Given the description of an element on the screen output the (x, y) to click on. 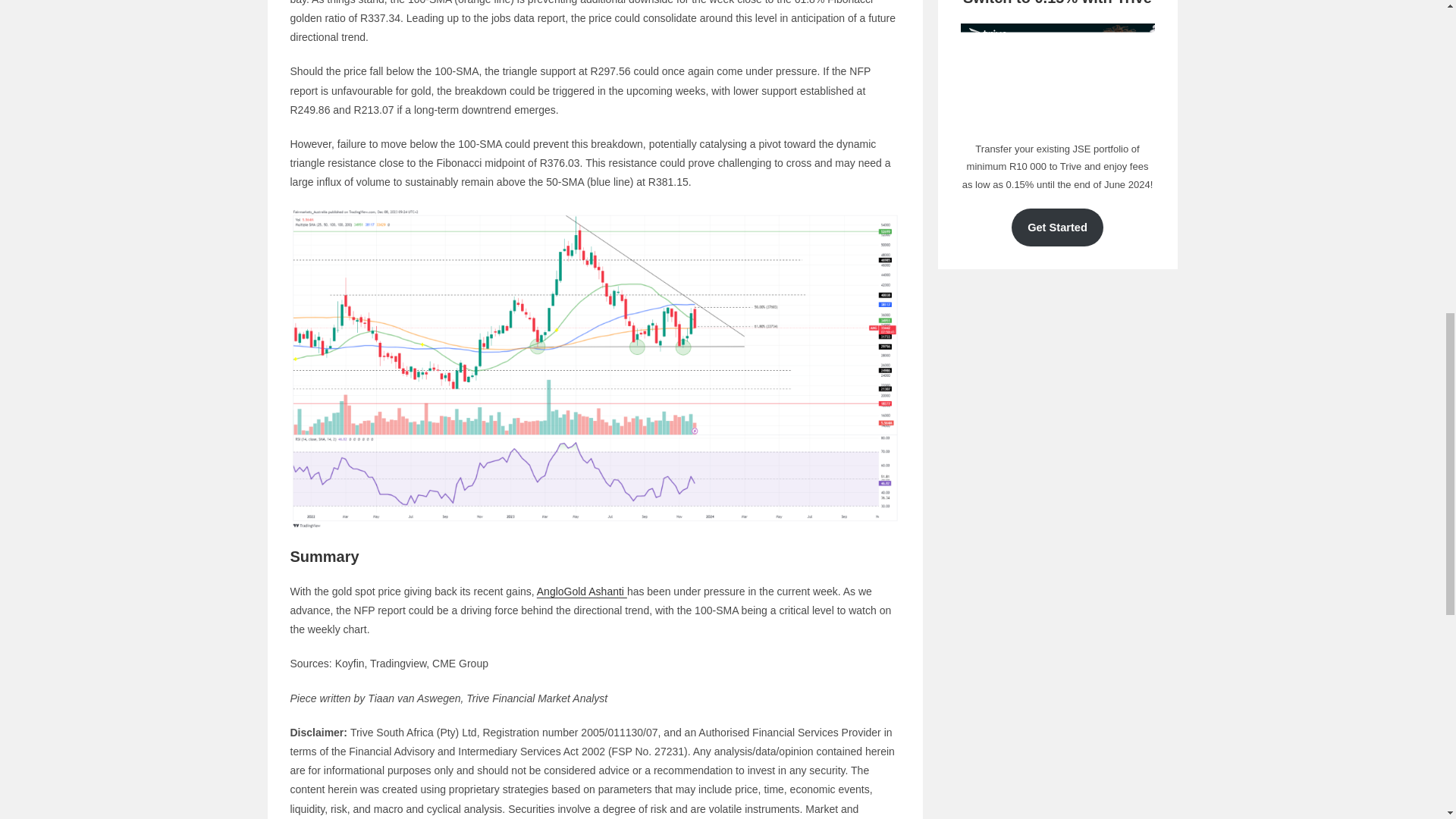
Get Started (1057, 227)
AngloGold Ashanti (582, 591)
